Given the description of an element on the screen output the (x, y) to click on. 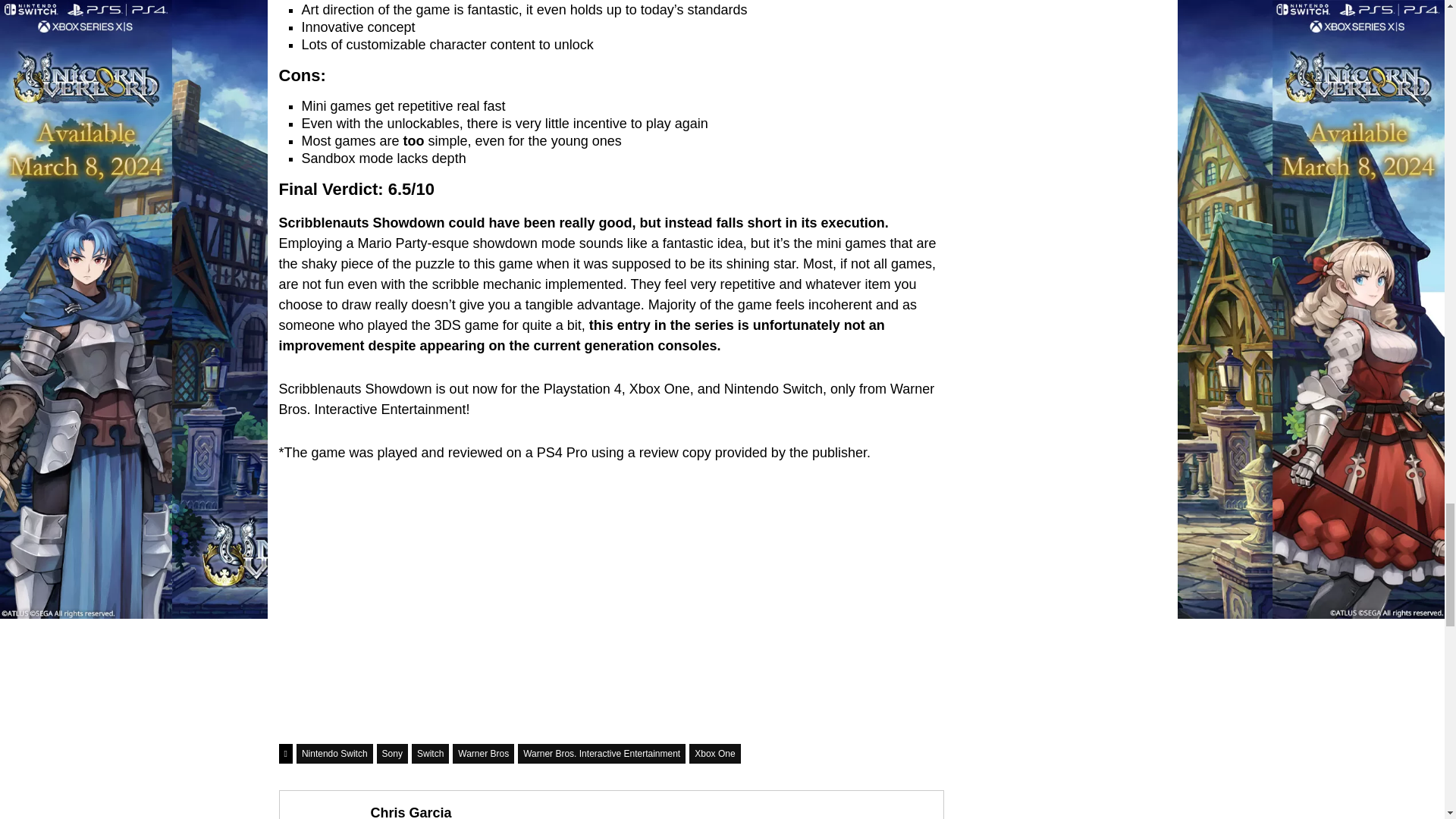
Xbox One (713, 753)
Switch (430, 753)
Sony (392, 753)
Warner Bros. Interactive Entertainment (601, 753)
Nintendo Switch (334, 753)
Warner Bros (482, 753)
